Given the description of an element on the screen output the (x, y) to click on. 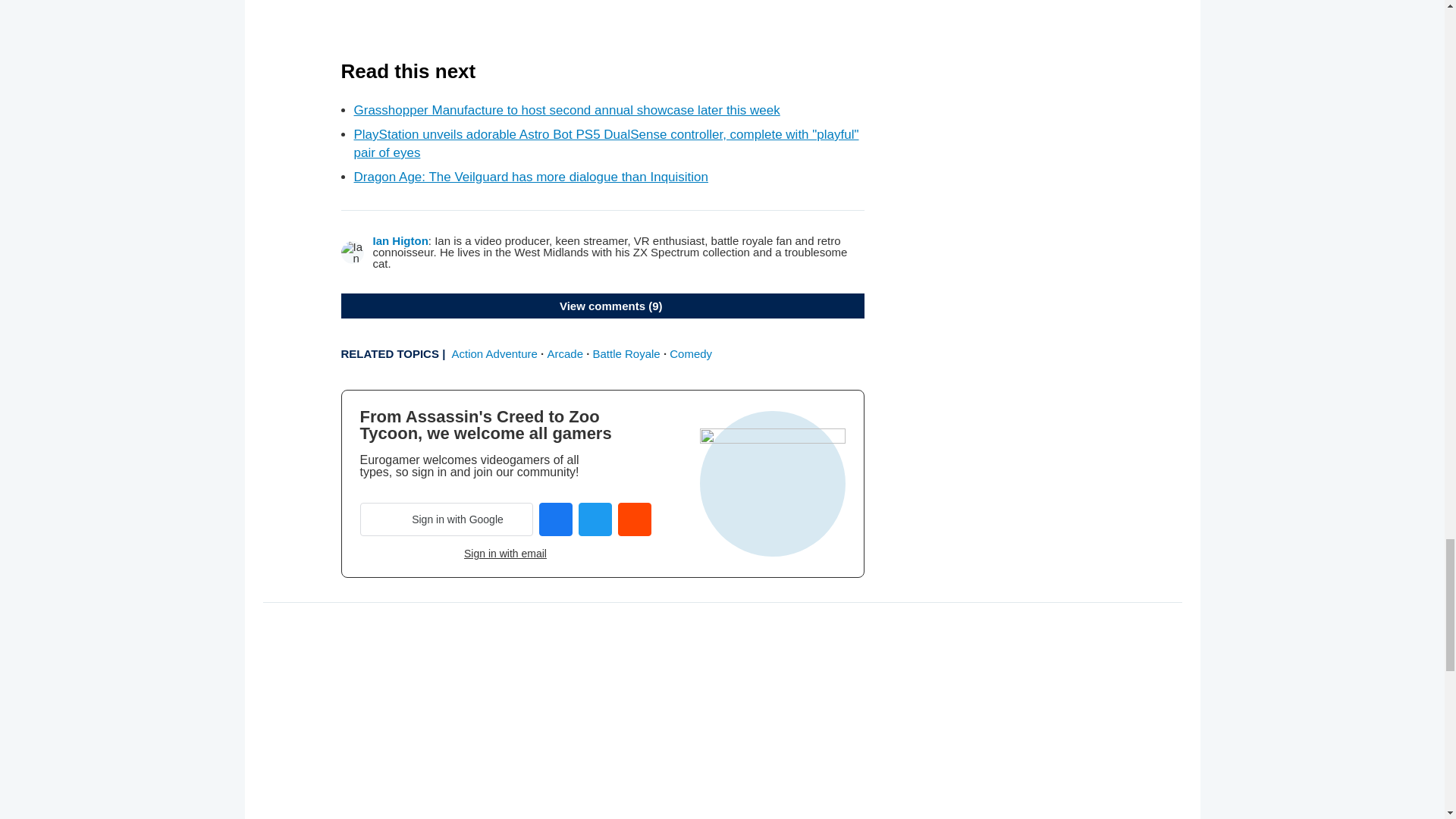
Battle Royale (626, 353)
Ian Higton (400, 240)
Action Adventure (494, 353)
Comedy (690, 353)
Dragon Age: The Veilguard has more dialogue than Inquisition (530, 176)
Arcade (565, 353)
